Given the description of an element on the screen output the (x, y) to click on. 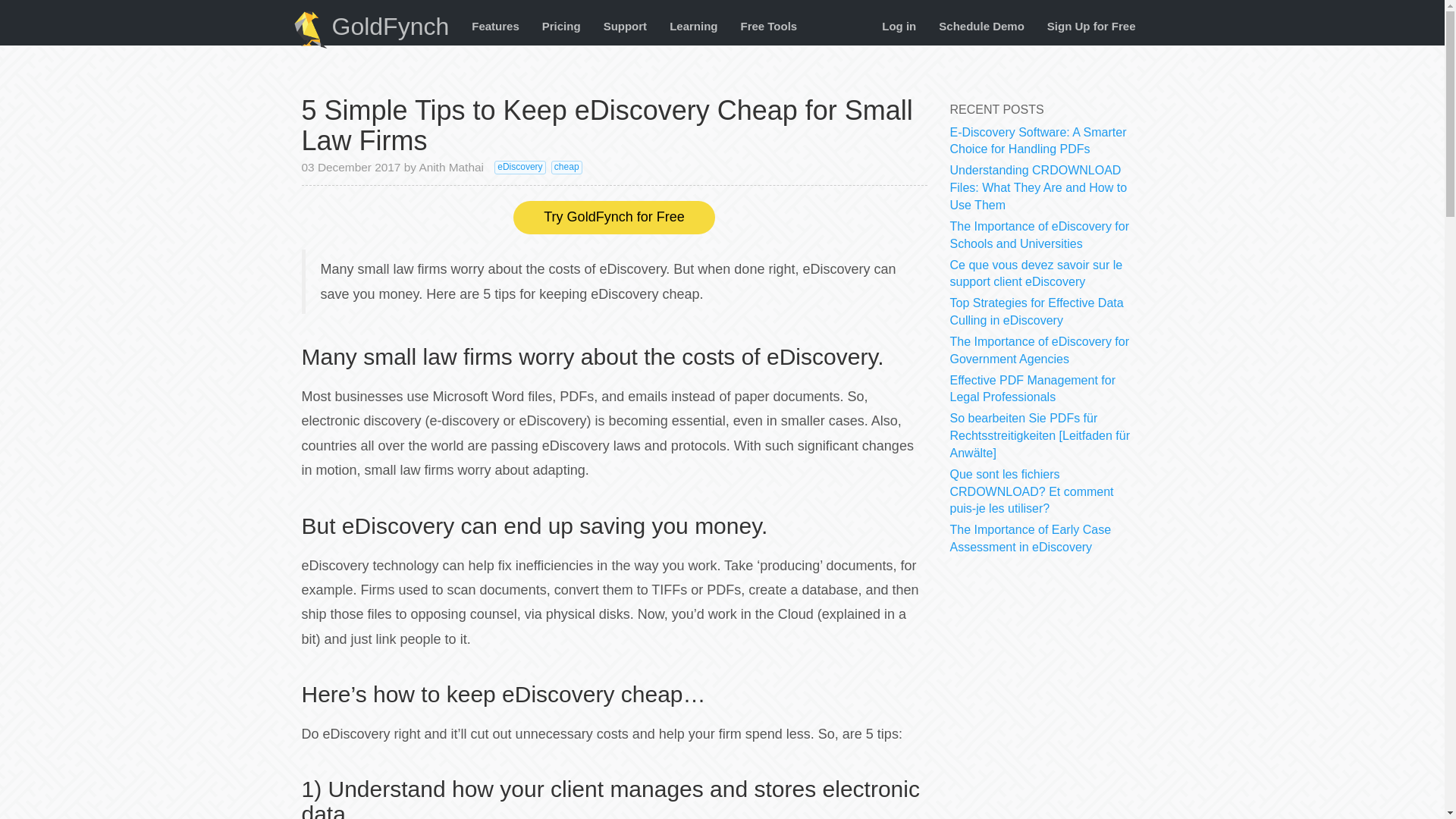
Log in (898, 26)
Pricing (561, 26)
Sign Up for Free (1091, 26)
Features (495, 26)
Schedule Demo (981, 26)
Support (625, 26)
Learning (693, 26)
Pricing (561, 26)
The Importance of eDiscovery for Schools and Universities (1039, 235)
Support (625, 26)
Free Tools (768, 26)
Ce que vous devez savoir sur le support client eDiscovery (1035, 272)
Sign Up for Free (1091, 26)
Features (495, 26)
Schedule Demo (981, 26)
